Given the description of an element on the screen output the (x, y) to click on. 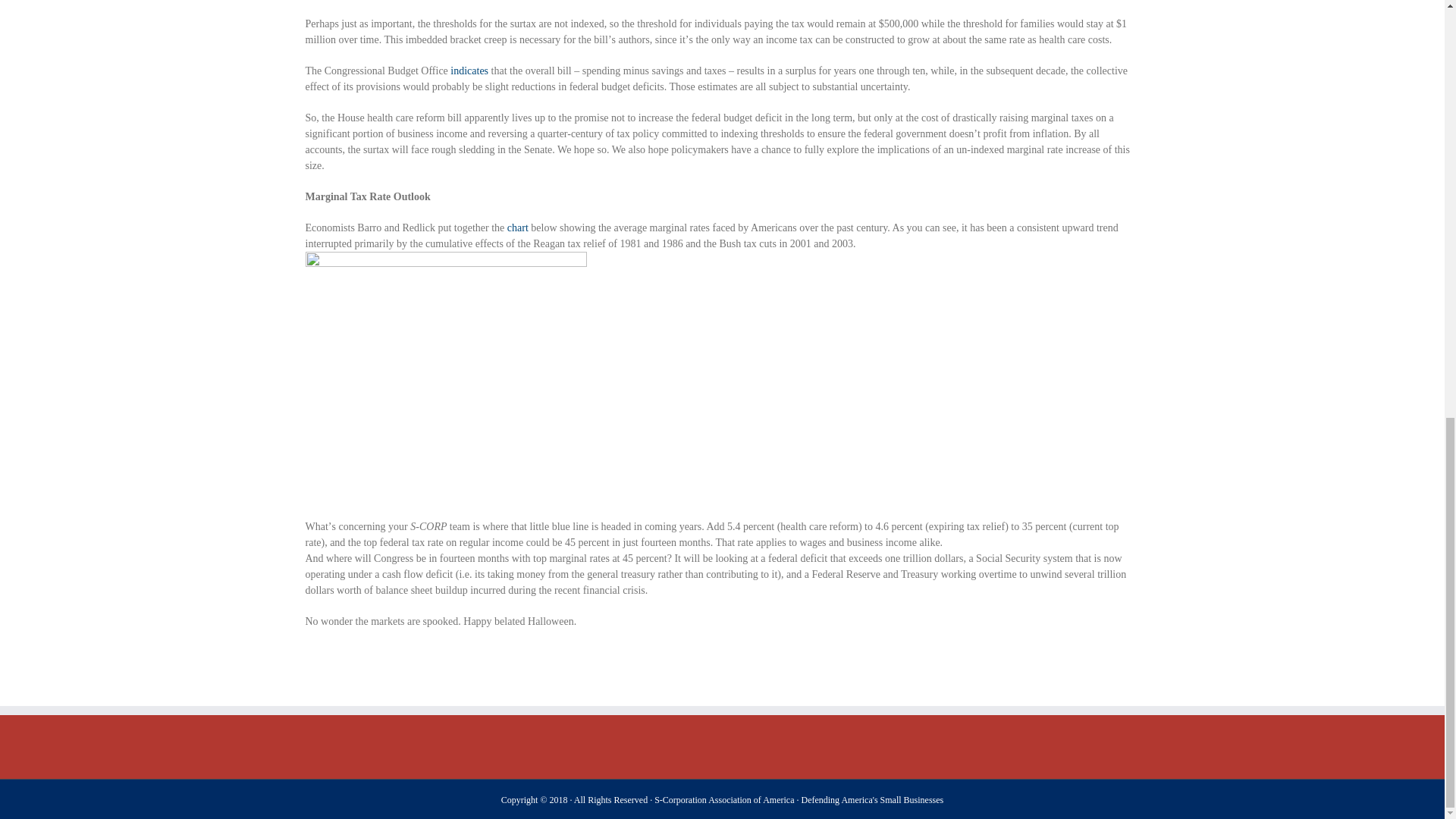
Design and effectiveness of fiscal-stimulus programmes (517, 227)
chart (517, 227)
CBO Letter to Chairman Rangel PDF (467, 70)
indicates (467, 70)
